Given the description of an element on the screen output the (x, y) to click on. 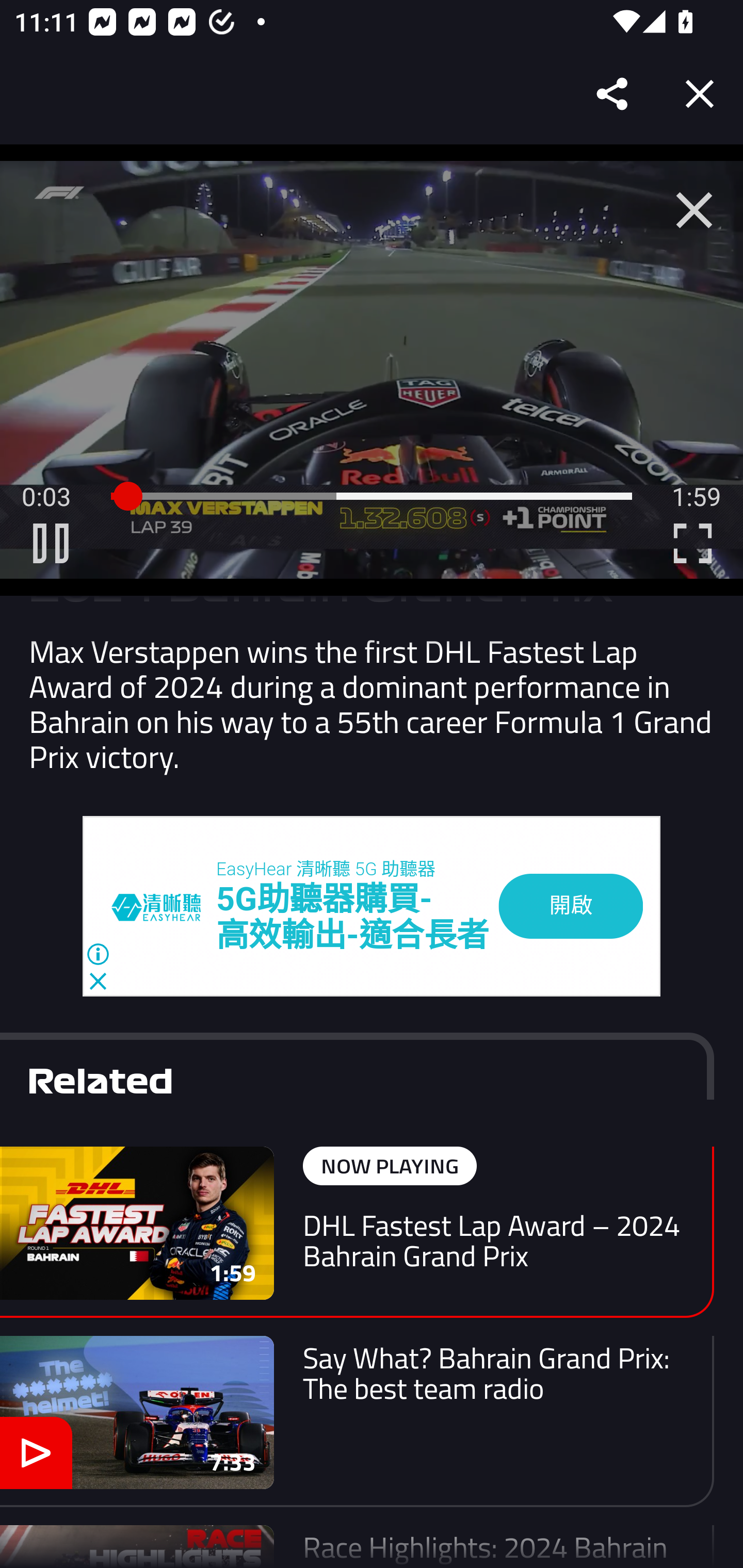
Share (612, 93)
Close (699, 93)
 Close (693, 210)
B Pause (50, 543)
C Enter Fullscreen (692, 543)
EasyHear 清晰聽 5G 助聽器 (326, 869)
easyhear.com (163, 906)
開啟 (570, 906)
5G助聽器購買- 高效輸出-適合長者 5G助聽器購買- 高效輸出-適合長者 (353, 917)
